Given the description of an element on the screen output the (x, y) to click on. 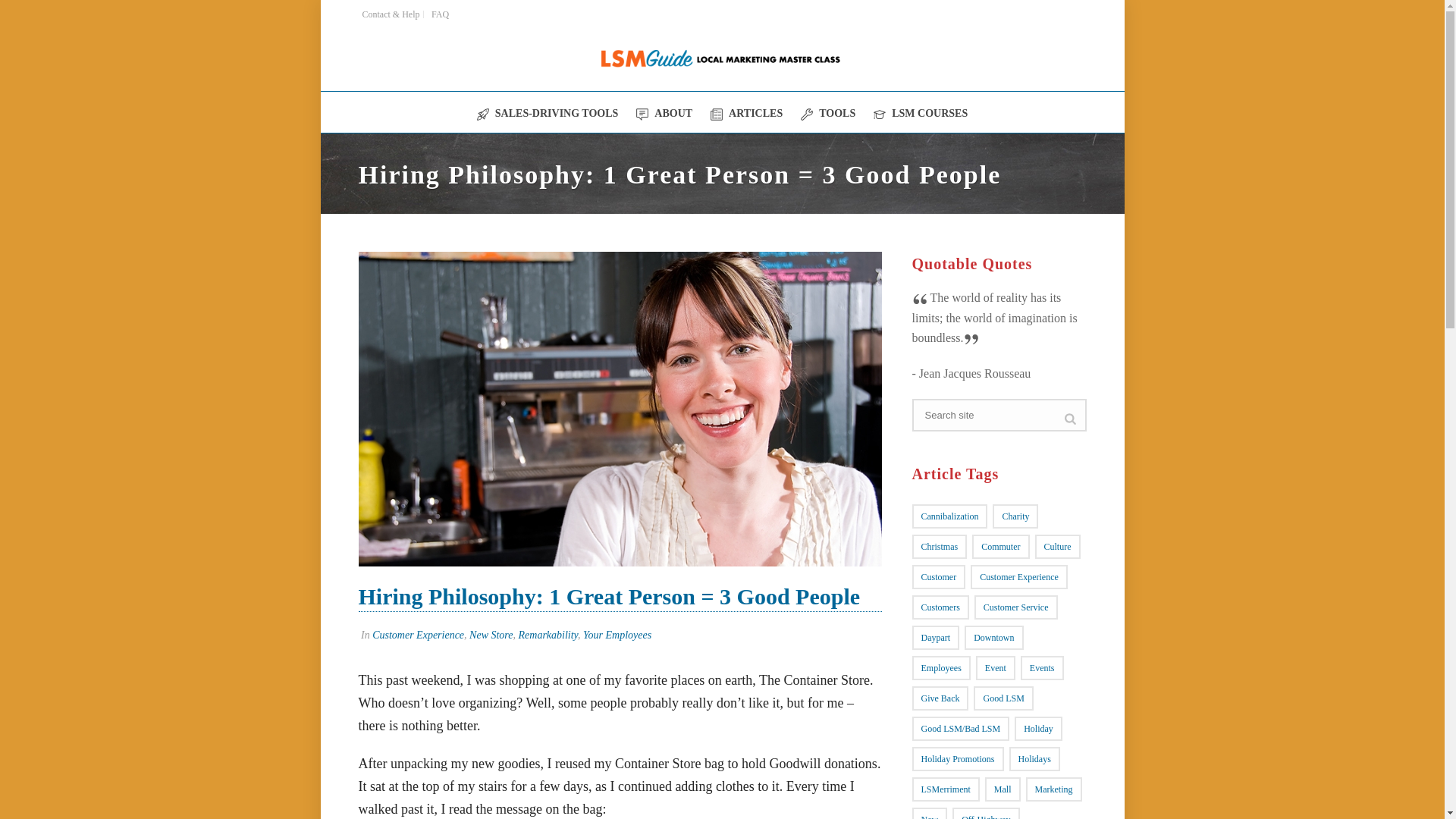
ABOUT (663, 111)
ABOUT (663, 111)
SALES-DRIVING TOOLS (547, 111)
SALES-DRIVING TOOLS (547, 111)
Customer Experience (418, 634)
Remarkability (548, 634)
TOOLS (827, 111)
Your Employees (616, 634)
LSM COURSES (920, 111)
TOOLS (827, 111)
ARTICLES (746, 111)
FAQ (440, 14)
LSM COURSES (920, 111)
ARTICLES (746, 111)
